Given the description of an element on the screen output the (x, y) to click on. 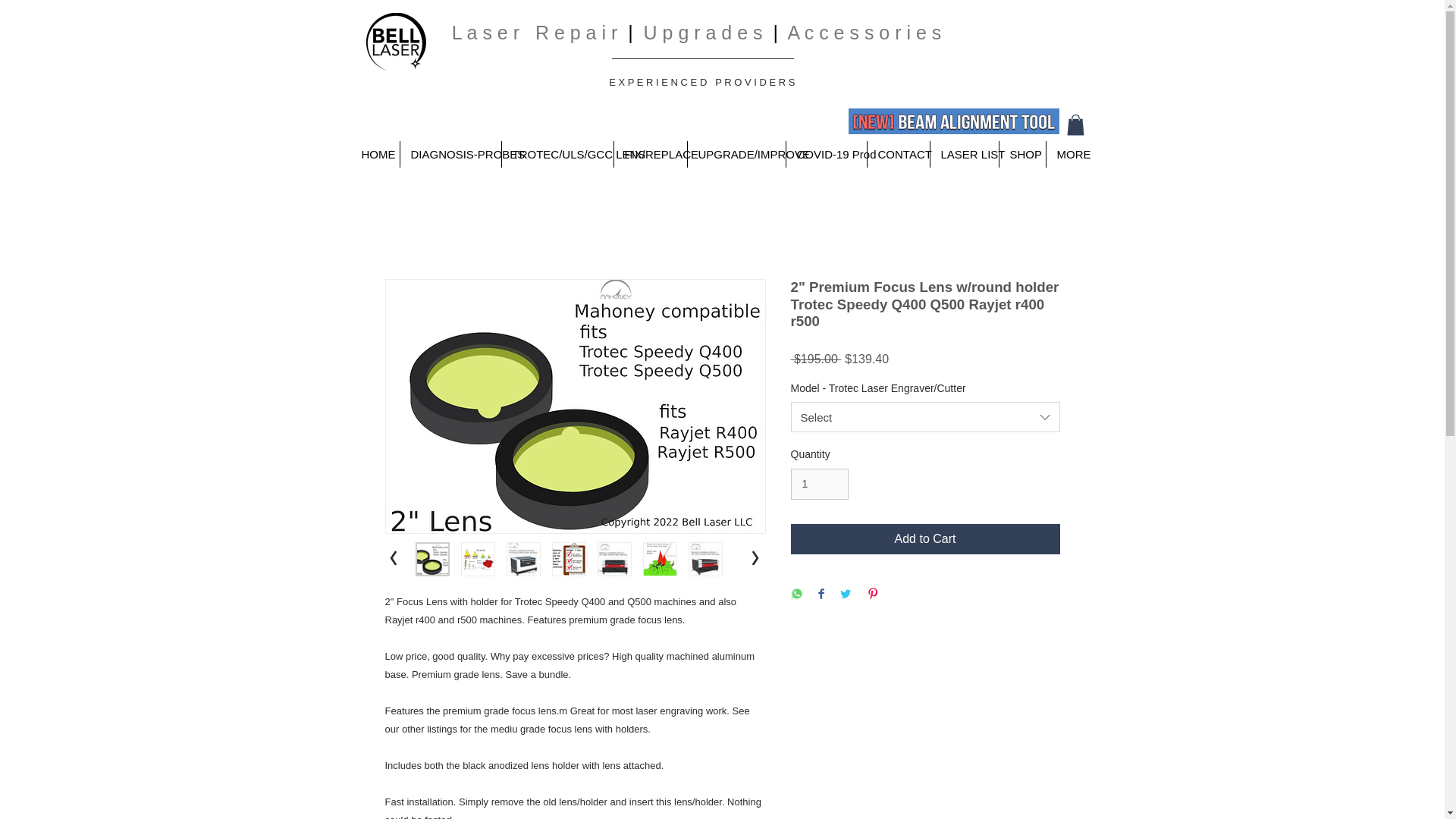
 E X P E R I E N C E D   P R O V I D E R S (700, 81)
1 (818, 483)
HOME (374, 153)
DIAGNOSIS-PROBES (450, 153)
